Given the description of an element on the screen output the (x, y) to click on. 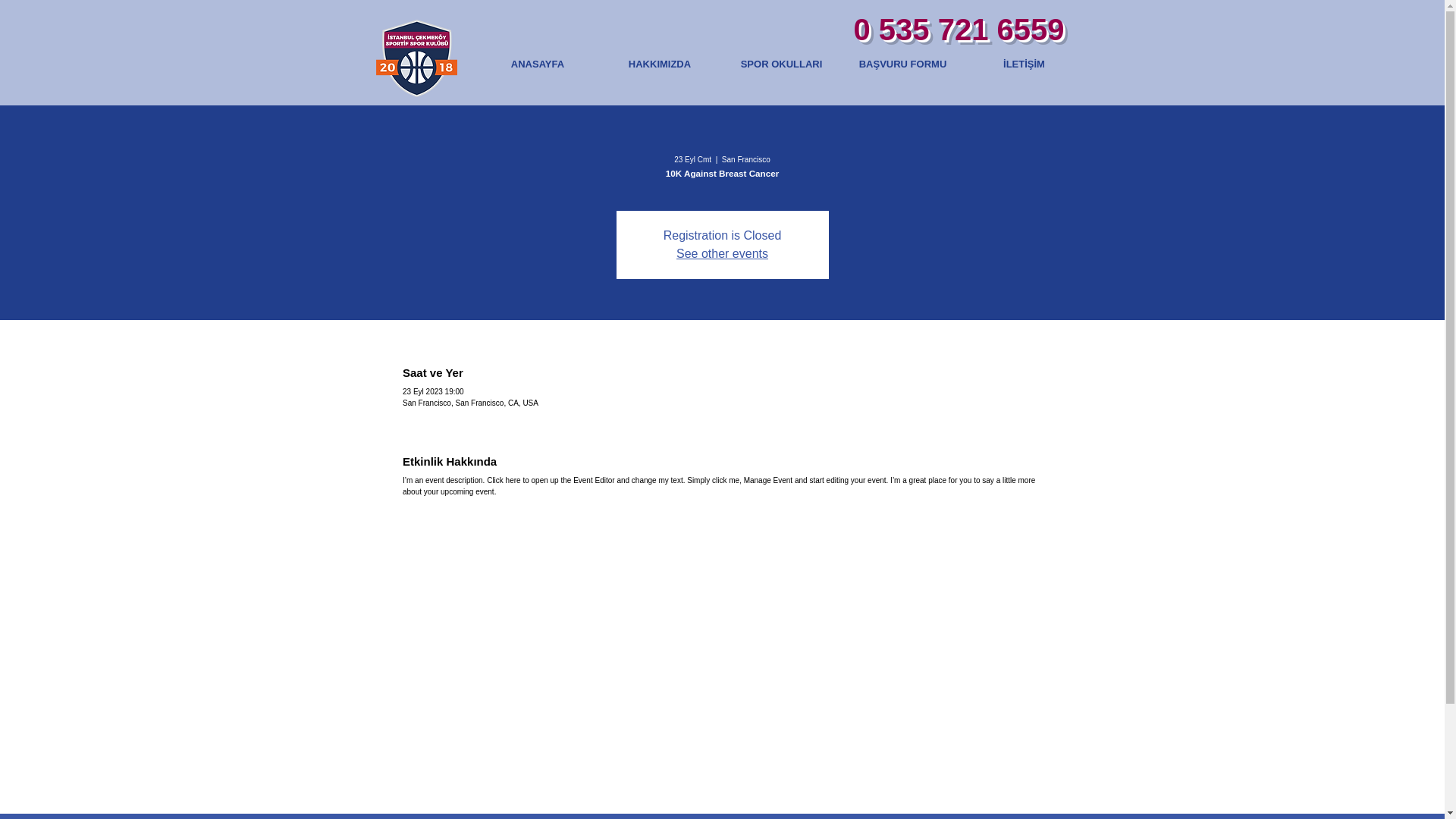
SPOR OKULLARI (780, 63)
0 535 721 6559 (958, 29)
HAKKIMIZDA (659, 63)
ANASAYFA (537, 63)
See other events (722, 253)
